Given the description of an element on the screen output the (x, y) to click on. 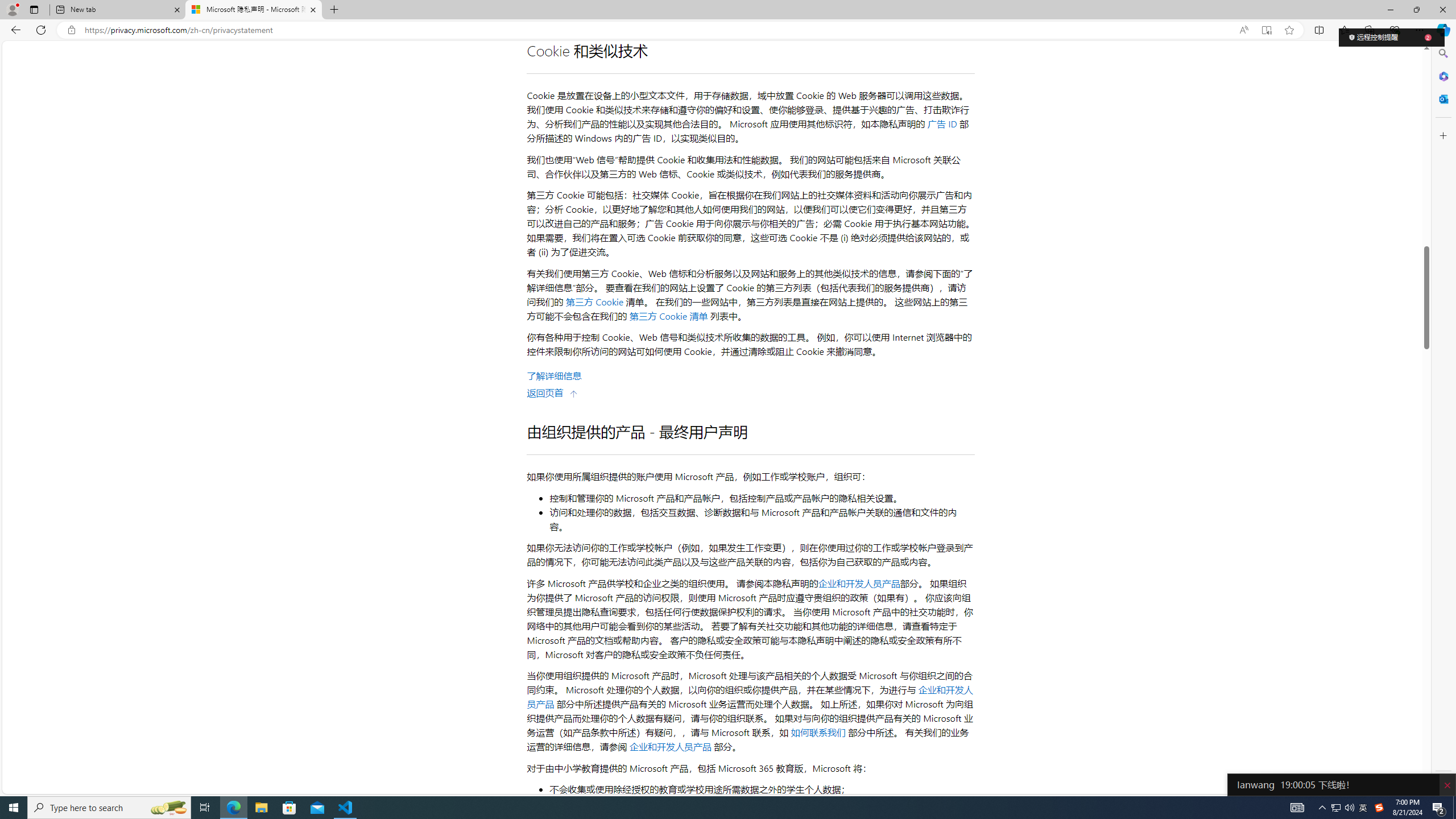
Address and search bar (658, 29)
